Given the description of an element on the screen output the (x, y) to click on. 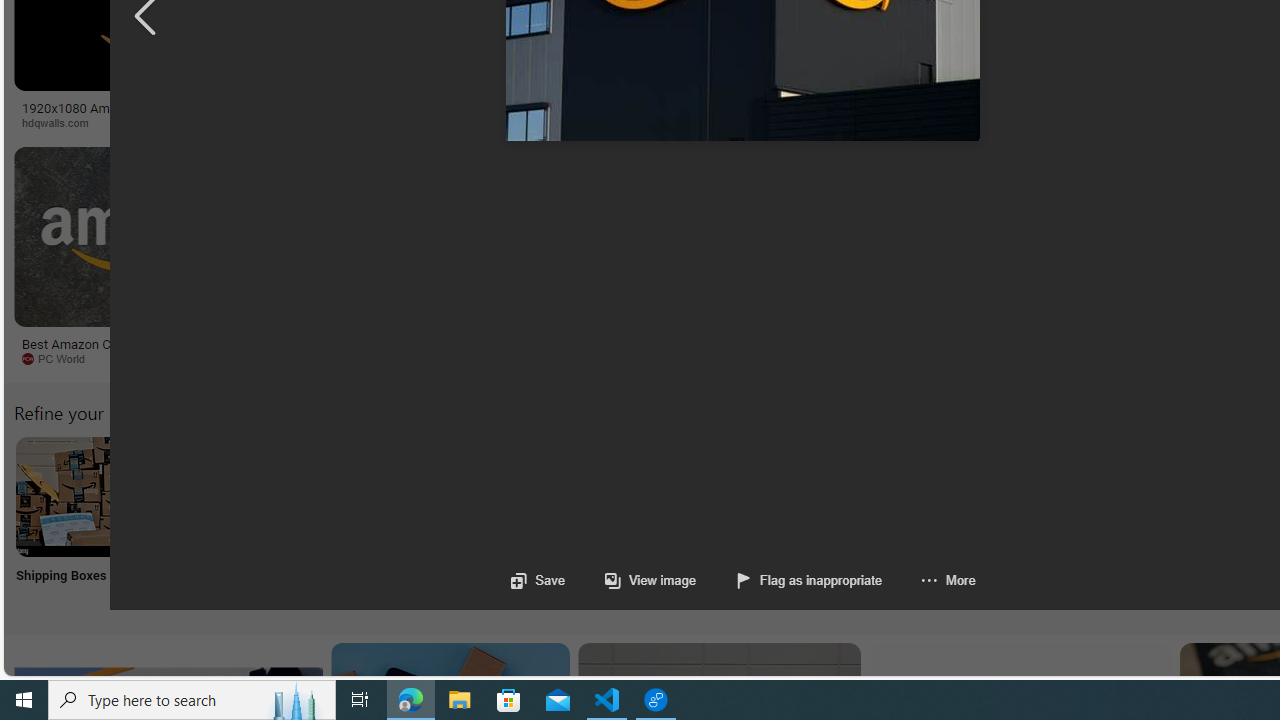
aiophotoz.com (611, 358)
The Verge (419, 359)
Amazon Log into My Account (472, 496)
View image (630, 580)
GOBankingRates (485, 123)
Amazon Retail Store (867, 496)
Amazon Online Shopping Search Online Shopping Search (207, 521)
Amazon Jobs Near Me (604, 496)
Amazon Log into My Account Log into My Account (472, 521)
PC World (146, 359)
GOBankingRates (396, 121)
